Given the description of an element on the screen output the (x, y) to click on. 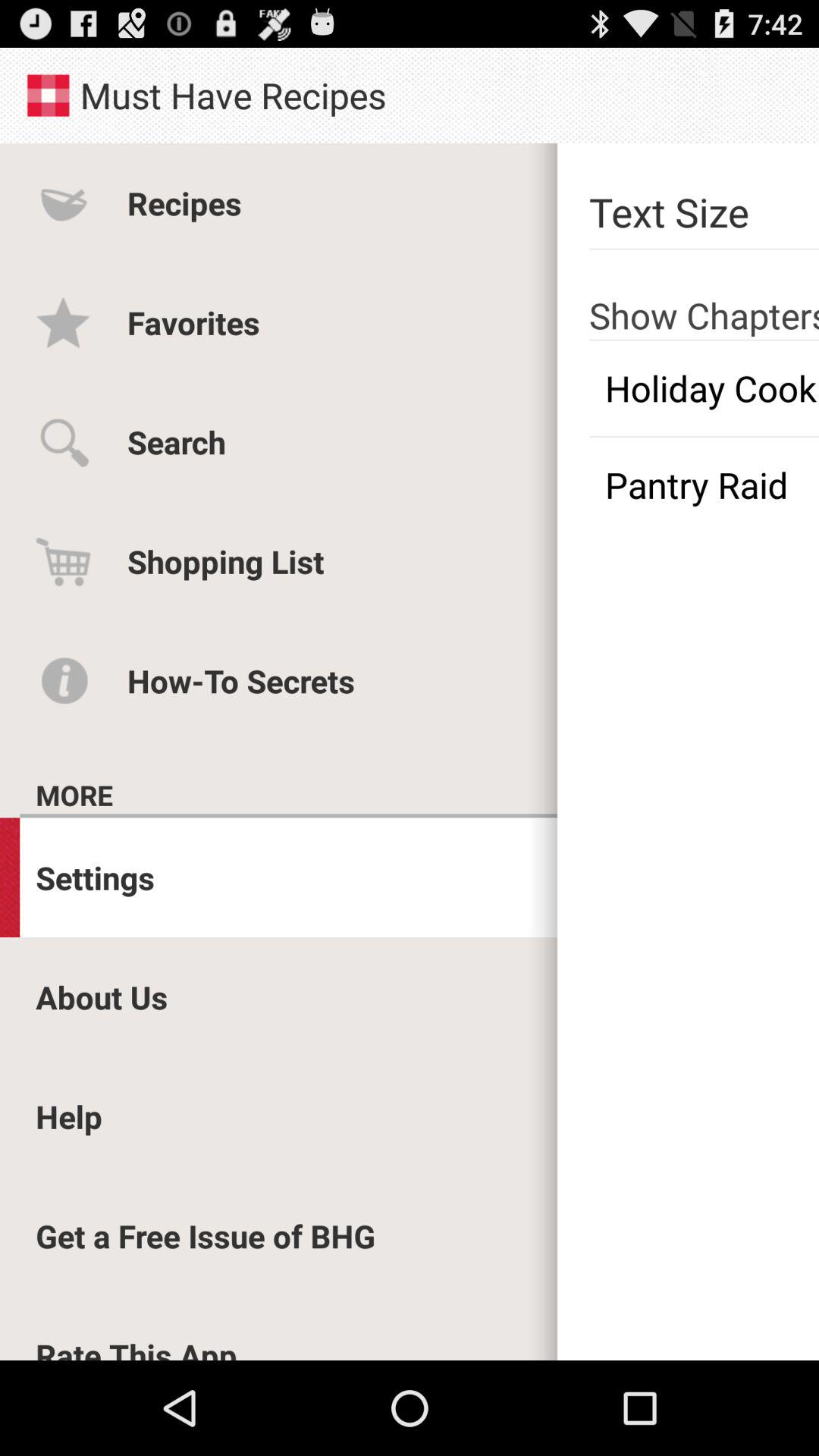
tap item above the pantry raid icon (704, 388)
